Given the description of an element on the screen output the (x, y) to click on. 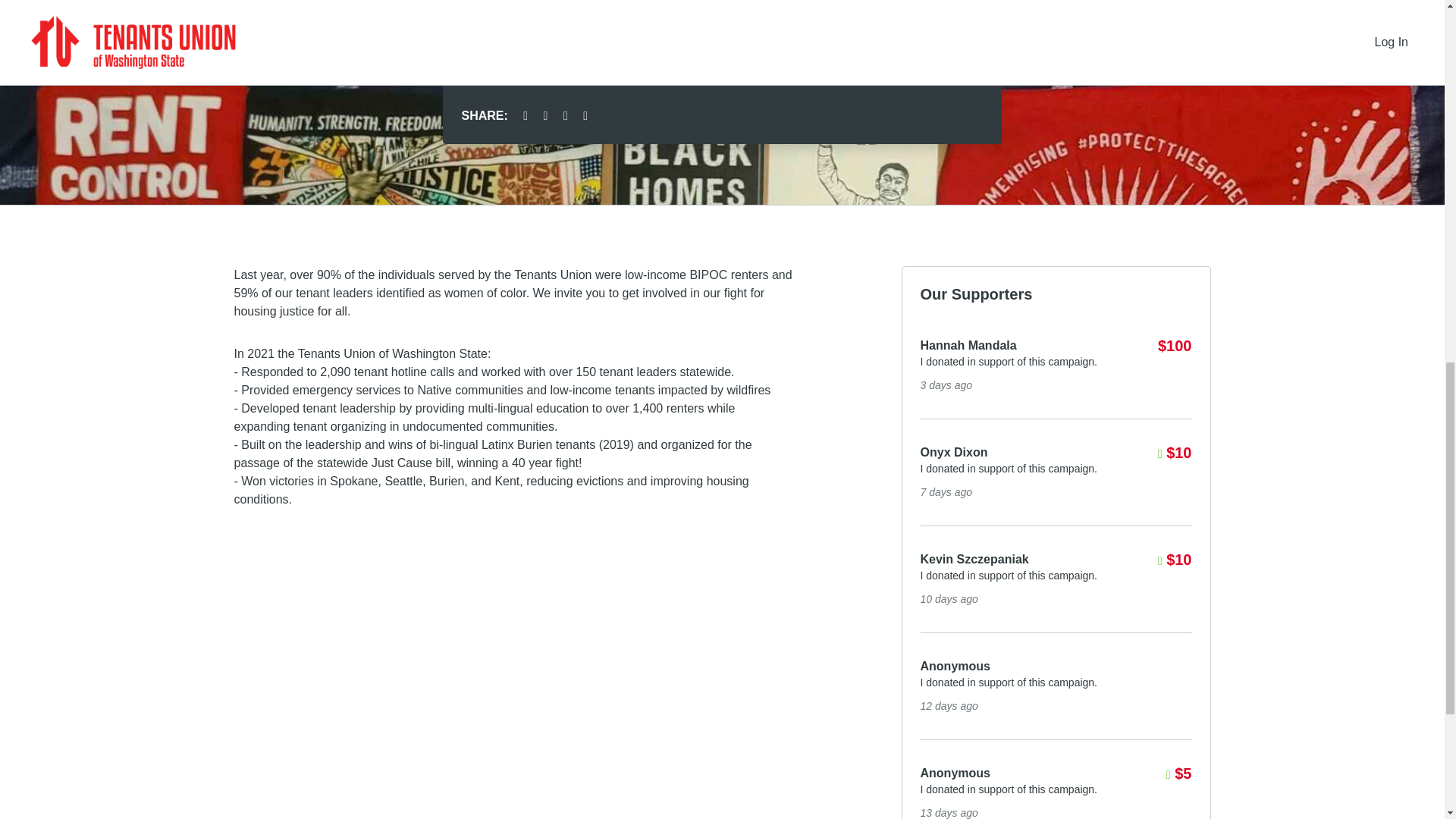
7 days ago (949, 598)
4 days ago (946, 491)
Donate Once (721, 61)
about 17 hours ago (946, 385)
10 days ago (949, 812)
9 days ago (949, 705)
